Given the description of an element on the screen output the (x, y) to click on. 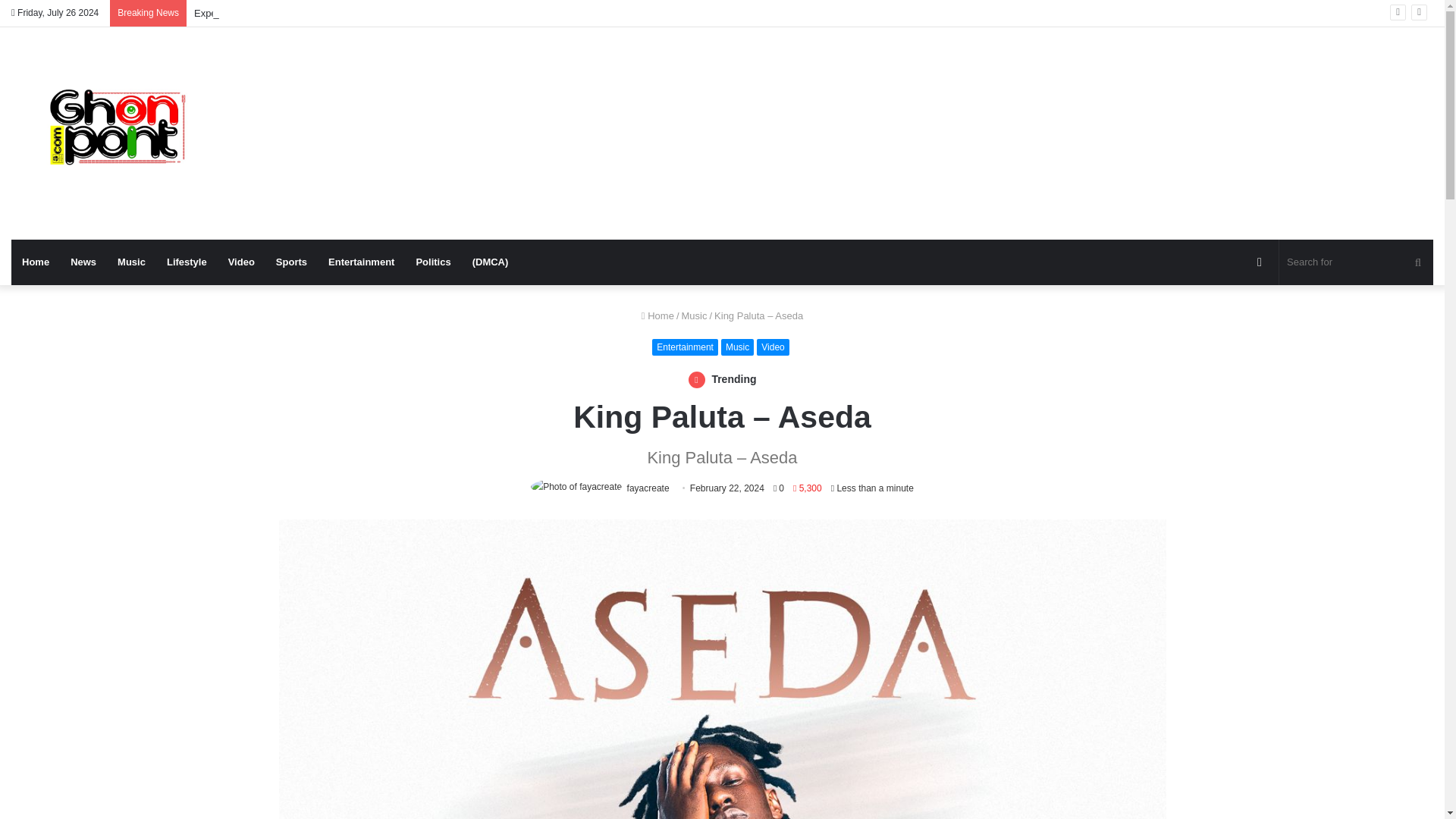
Search for (1417, 262)
Music (693, 315)
Home (658, 315)
Music (130, 262)
GhOnPoint (118, 133)
Home (35, 262)
Video (240, 262)
News (82, 262)
Entertainment (360, 262)
Switch skin (1259, 262)
Switch skin (1259, 262)
Entertainment (684, 347)
Sports (290, 262)
Video (773, 347)
Politics (432, 262)
